Given the description of an element on the screen output the (x, y) to click on. 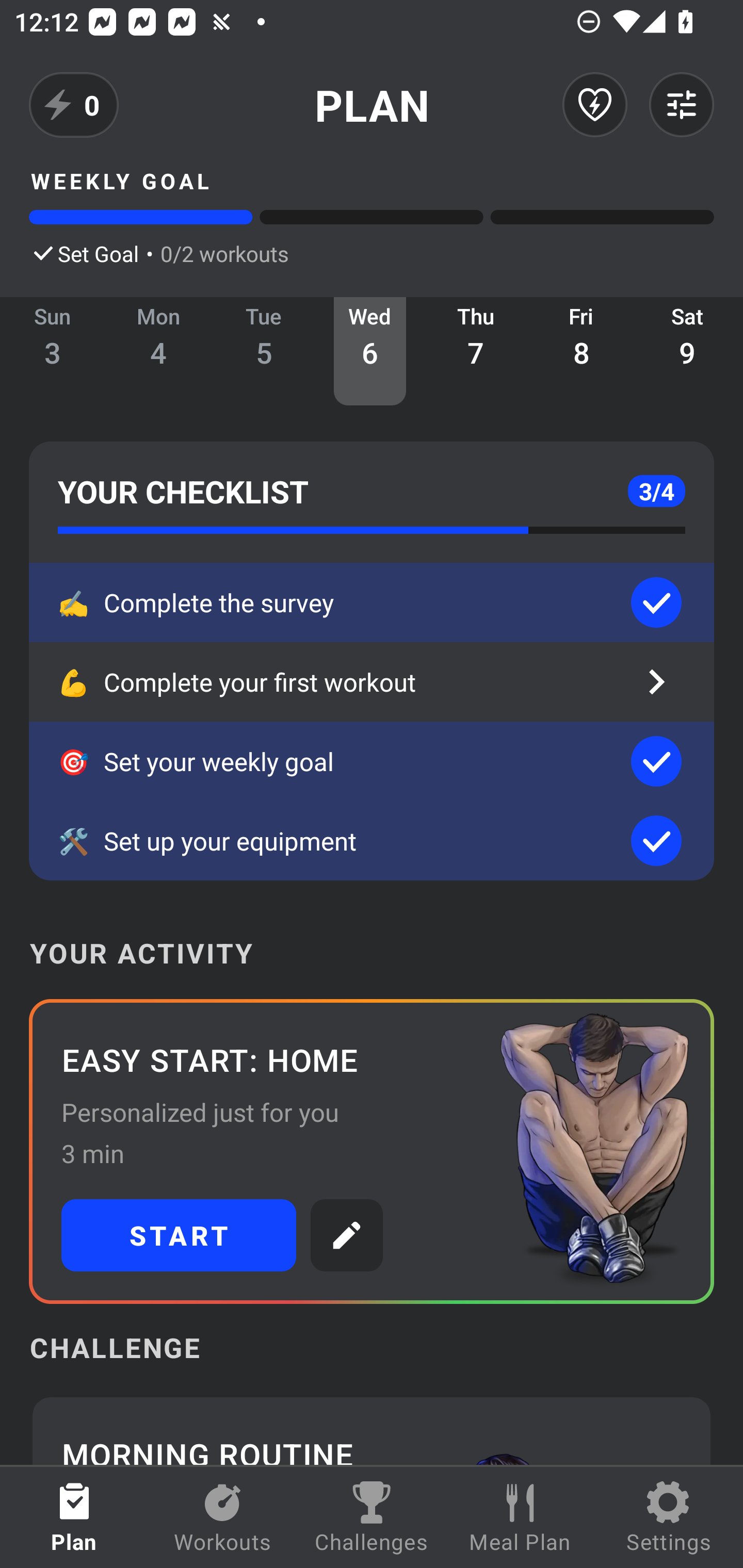
0 (73, 104)
Sun 3 (52, 351)
Mon 4 (158, 351)
Tue 5 (264, 351)
Wed 6 (369, 351)
Thu 7 (475, 351)
Fri 8 (581, 351)
Sat 9 (687, 351)
💪 Complete your first workout (371, 681)
START (178, 1235)
 Workouts  (222, 1517)
 Challenges  (371, 1517)
 Meal Plan  (519, 1517)
 Settings  (668, 1517)
